Given the description of an element on the screen output the (x, y) to click on. 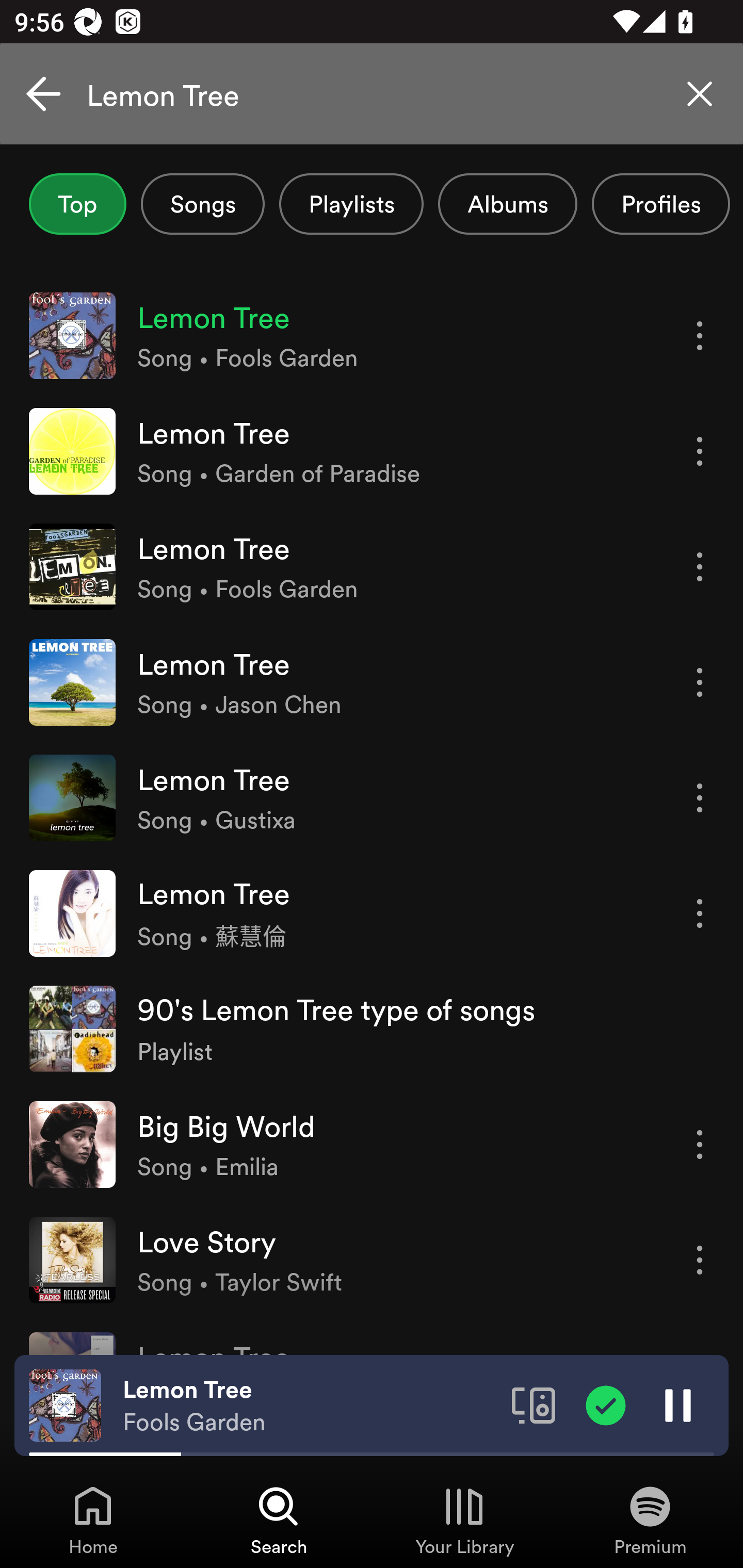
Lemon Tree (371, 93)
Cancel (43, 93)
Clear search query (699, 93)
Top (77, 203)
Songs (202, 203)
Playlists (351, 203)
Albums (507, 203)
Profiles (661, 203)
More options for song Lemon Tree (699, 336)
More options for song Lemon Tree (699, 450)
More options for song Lemon Tree (699, 566)
More options for song Lemon Tree (699, 682)
More options for song Lemon Tree (699, 798)
More options for song Lemon Tree (699, 913)
90's Lemon Tree type of songs Playlist (371, 1028)
More options for song Big Big World (699, 1144)
More options for song Love Story (699, 1259)
Lemon Tree Fools Garden (309, 1405)
The cover art of the currently playing track (64, 1404)
Connect to a device. Opens the devices menu (533, 1404)
Item added (605, 1404)
Pause (677, 1404)
Home, Tab 1 of 4 Home Home (92, 1519)
Search, Tab 2 of 4 Search Search (278, 1519)
Your Library, Tab 3 of 4 Your Library Your Library (464, 1519)
Premium, Tab 4 of 4 Premium Premium (650, 1519)
